Given the description of an element on the screen output the (x, y) to click on. 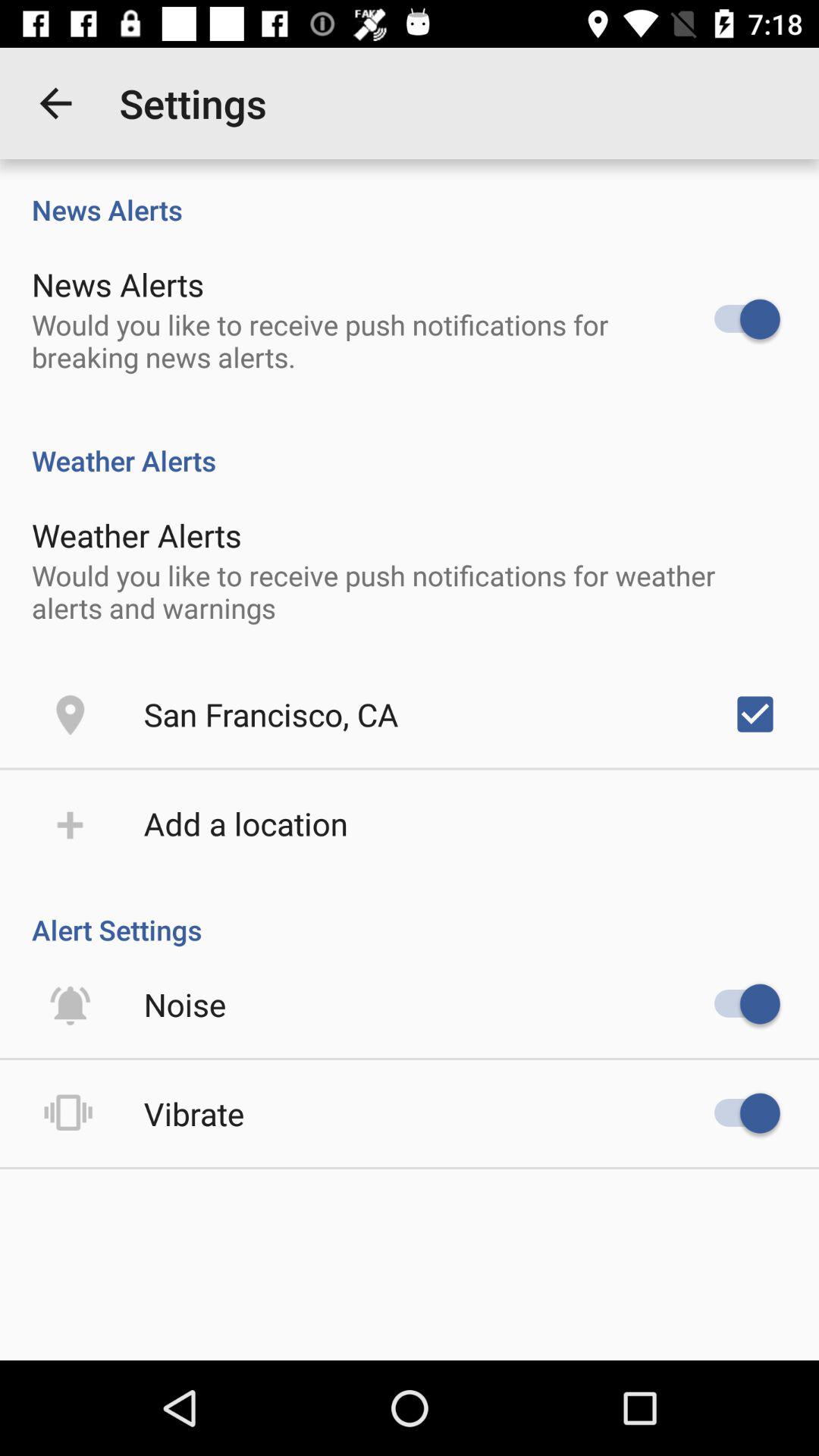
turn on item above the alert settings (245, 823)
